Given the description of an element on the screen output the (x, y) to click on. 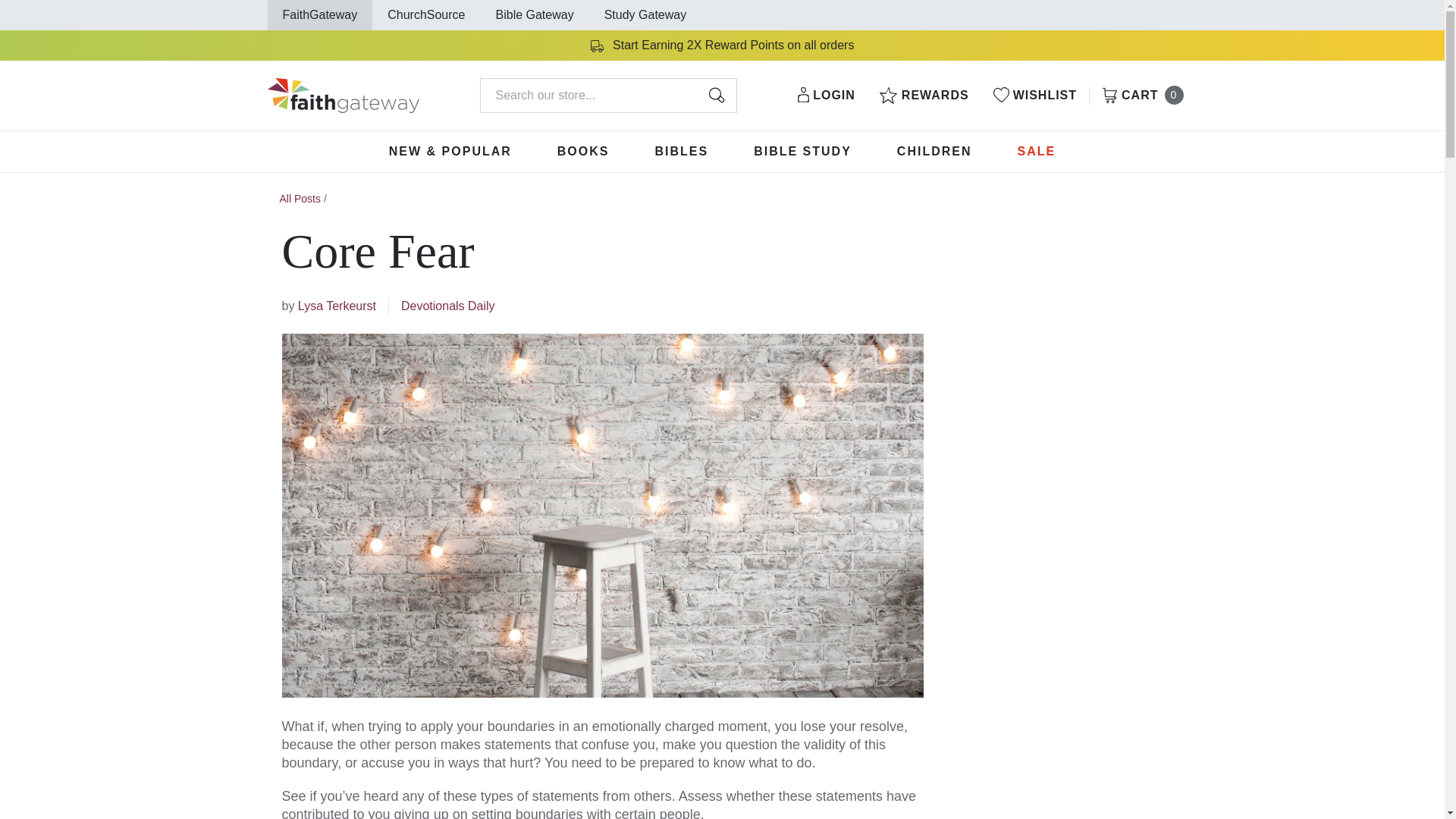
Study Gateway (645, 14)
REWARDS (924, 95)
Search (716, 95)
ChurchSource (425, 14)
Devotionals Daily (448, 305)
All Posts (299, 198)
WISHLIST (1034, 95)
Lysa terkeurst (336, 305)
Bible Gateway (534, 14)
